Given the description of an element on the screen output the (x, y) to click on. 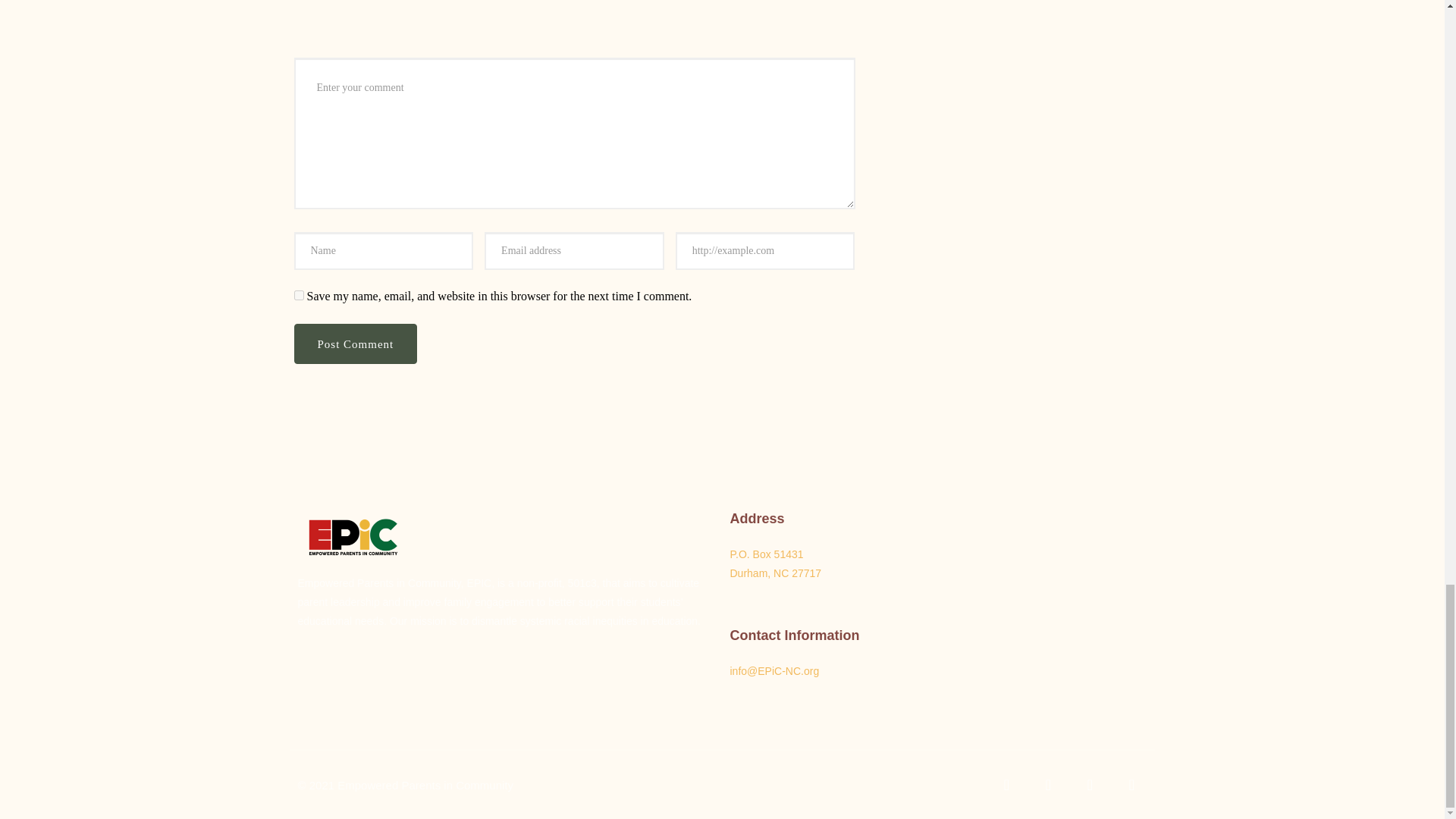
yes (299, 295)
Post Comment (355, 343)
